Given the description of an element on the screen output the (x, y) to click on. 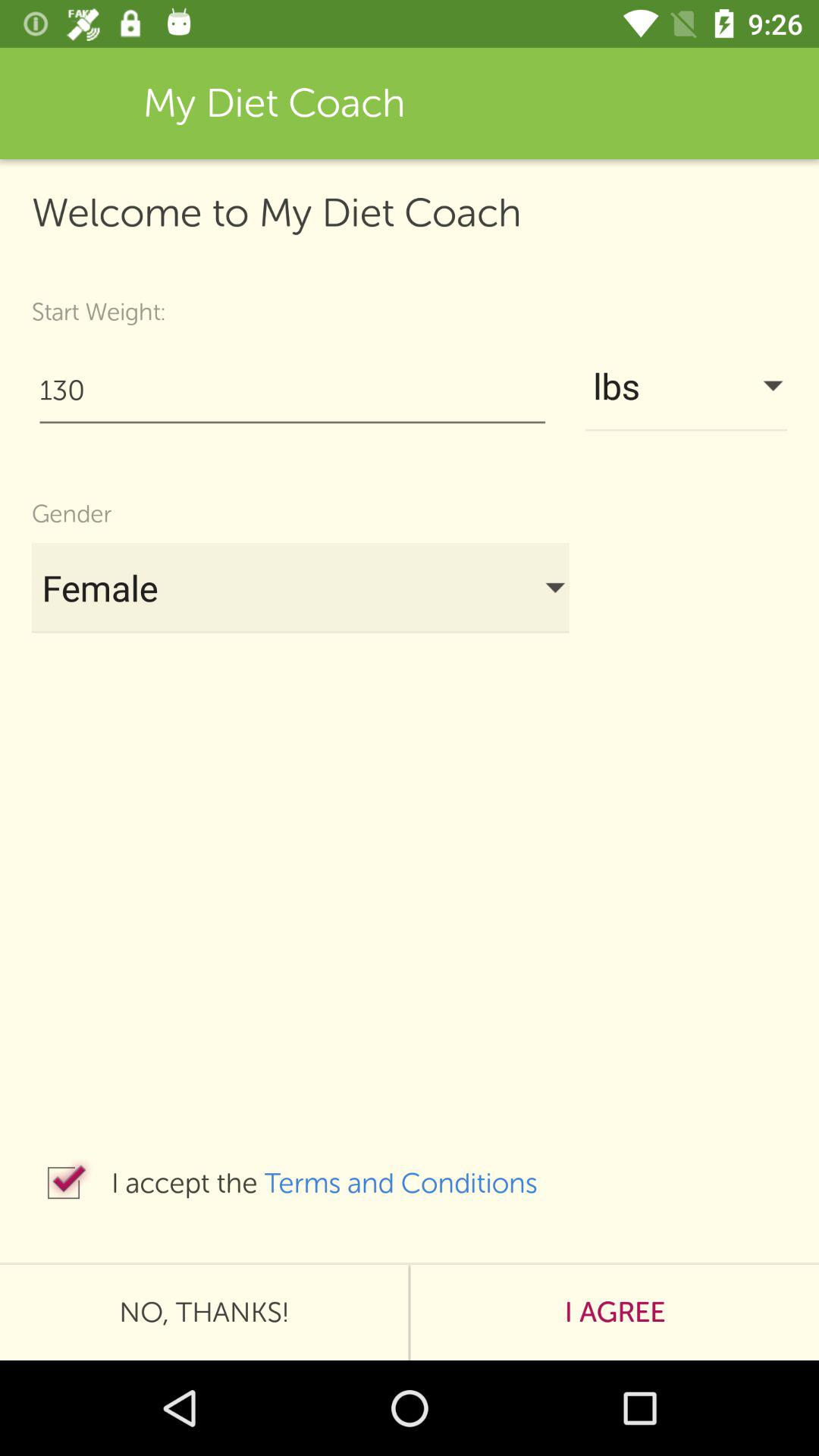
turn on item below female icon (416, 1182)
